Given the description of an element on the screen output the (x, y) to click on. 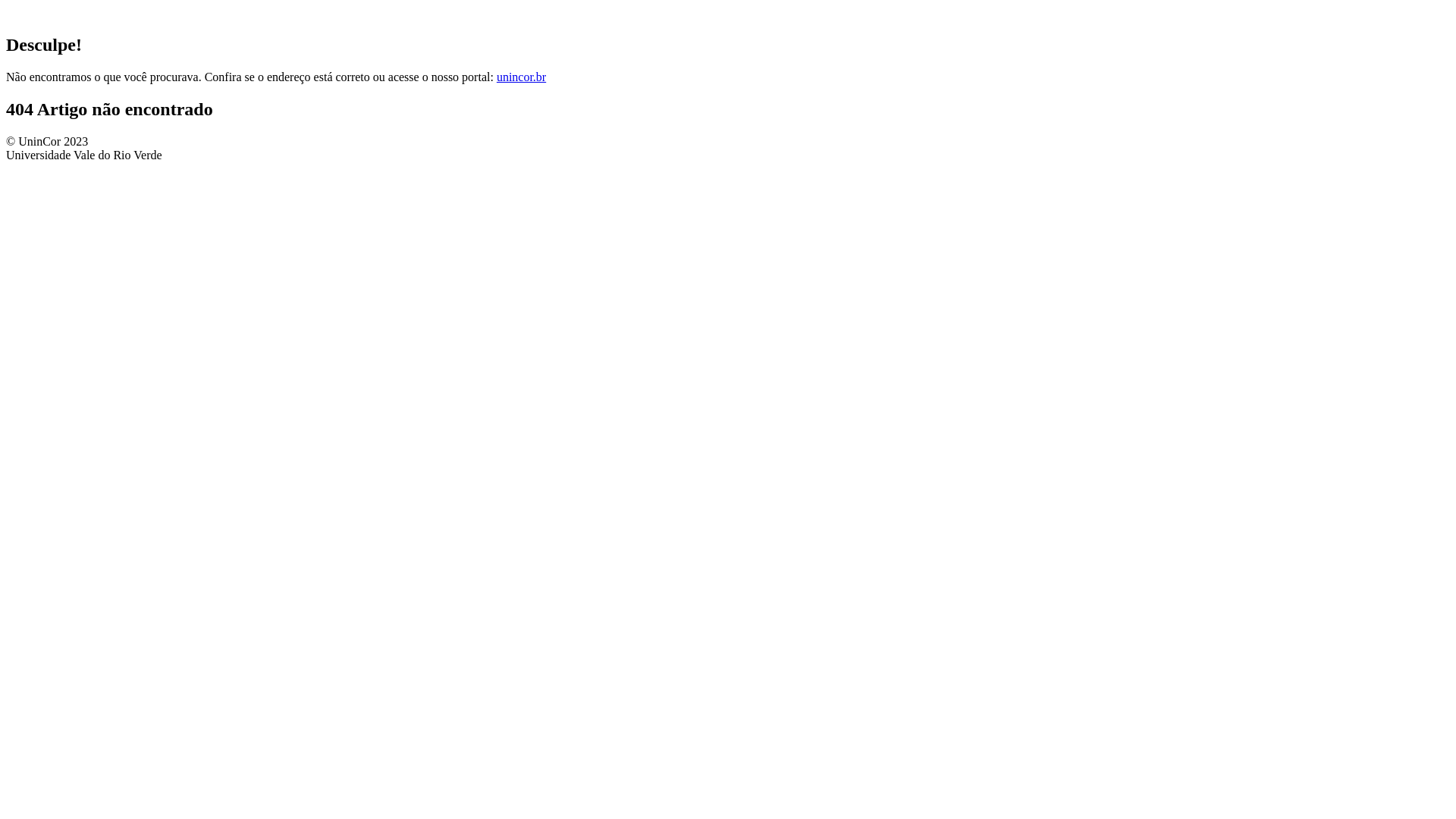
unincor.br Element type: text (521, 76)
